Given the description of an element on the screen output the (x, y) to click on. 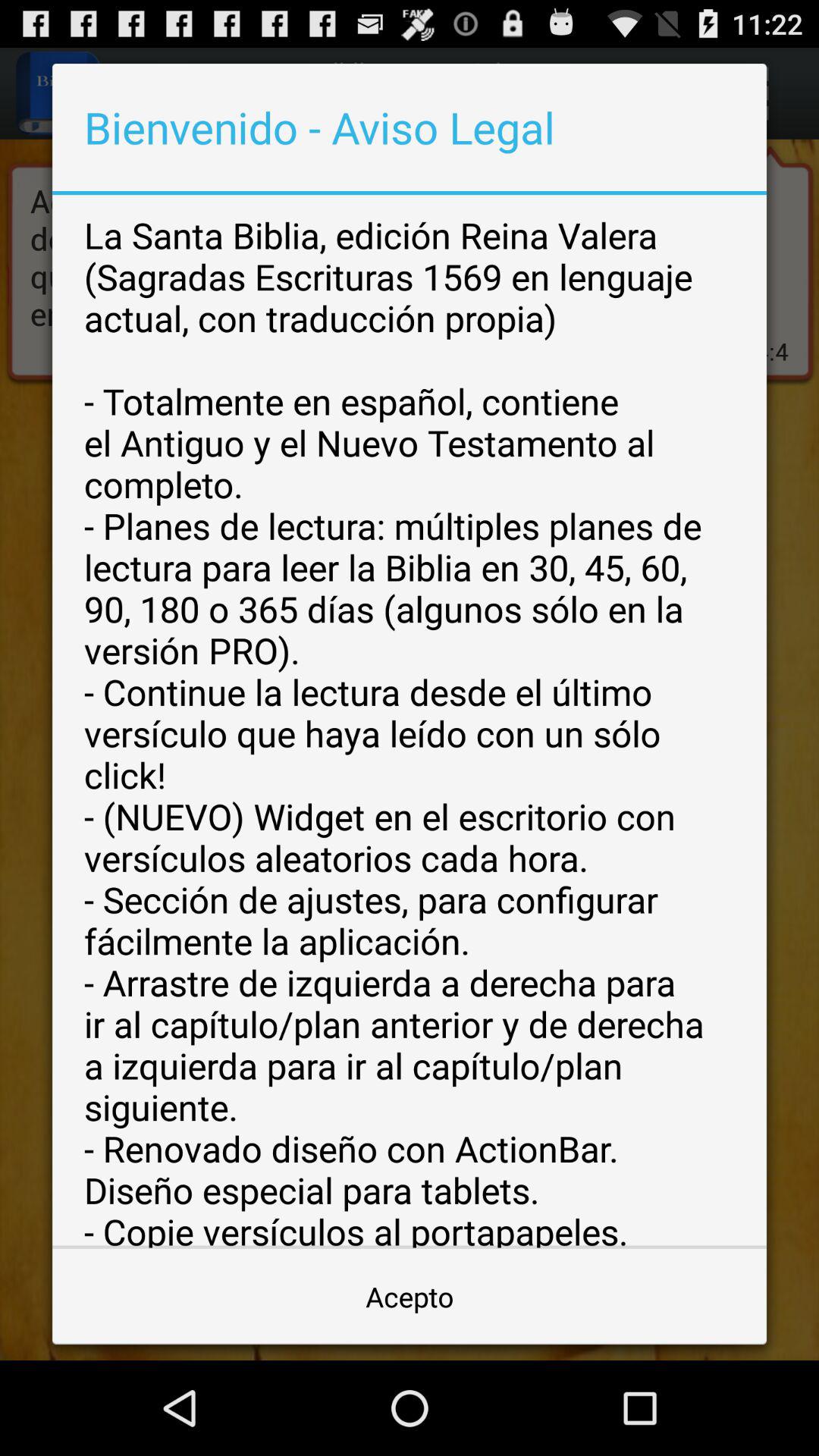
click item at the bottom (409, 1296)
